Given the description of an element on the screen output the (x, y) to click on. 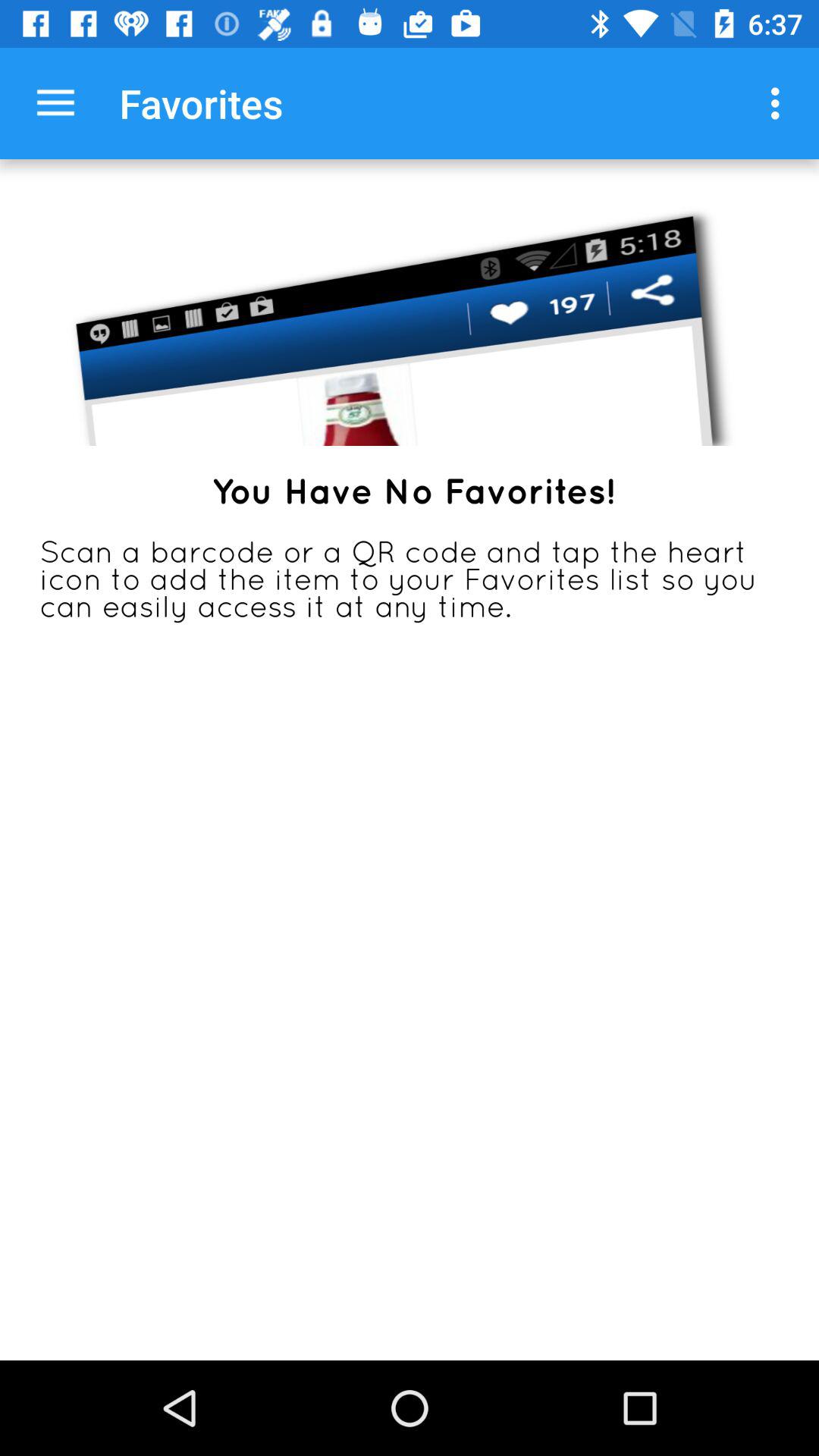
tap the app to the left of favorites app (55, 103)
